Given the description of an element on the screen output the (x, y) to click on. 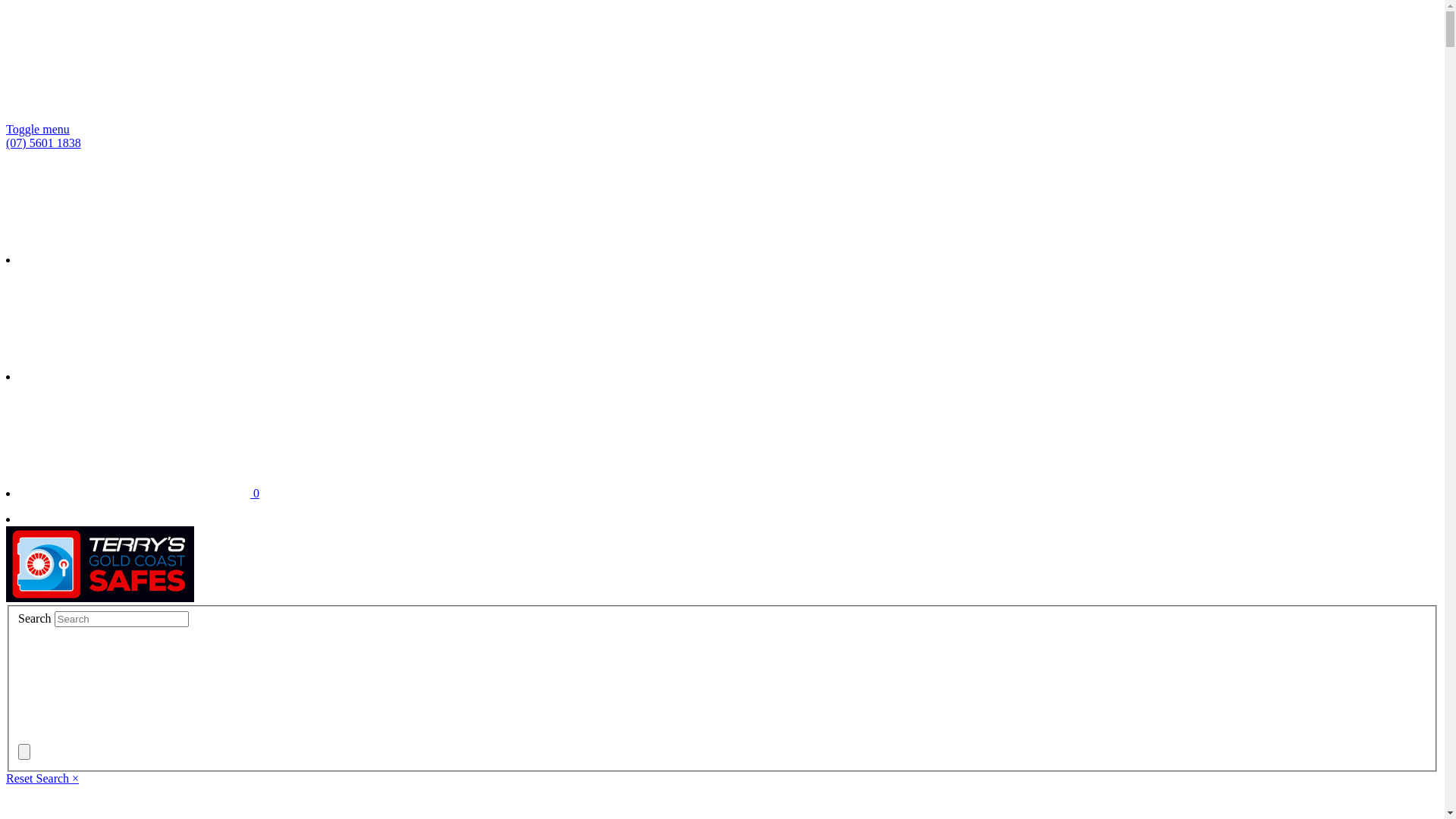
Toggle menu Element type: text (37, 128)
0 Element type: text (140, 492)
Reset Search Element type: text (39, 777)
(07) 5601 1838 Element type: text (43, 142)
Terry's Gold Coast Safes Element type: hover (100, 564)
